Given the description of an element on the screen output the (x, y) to click on. 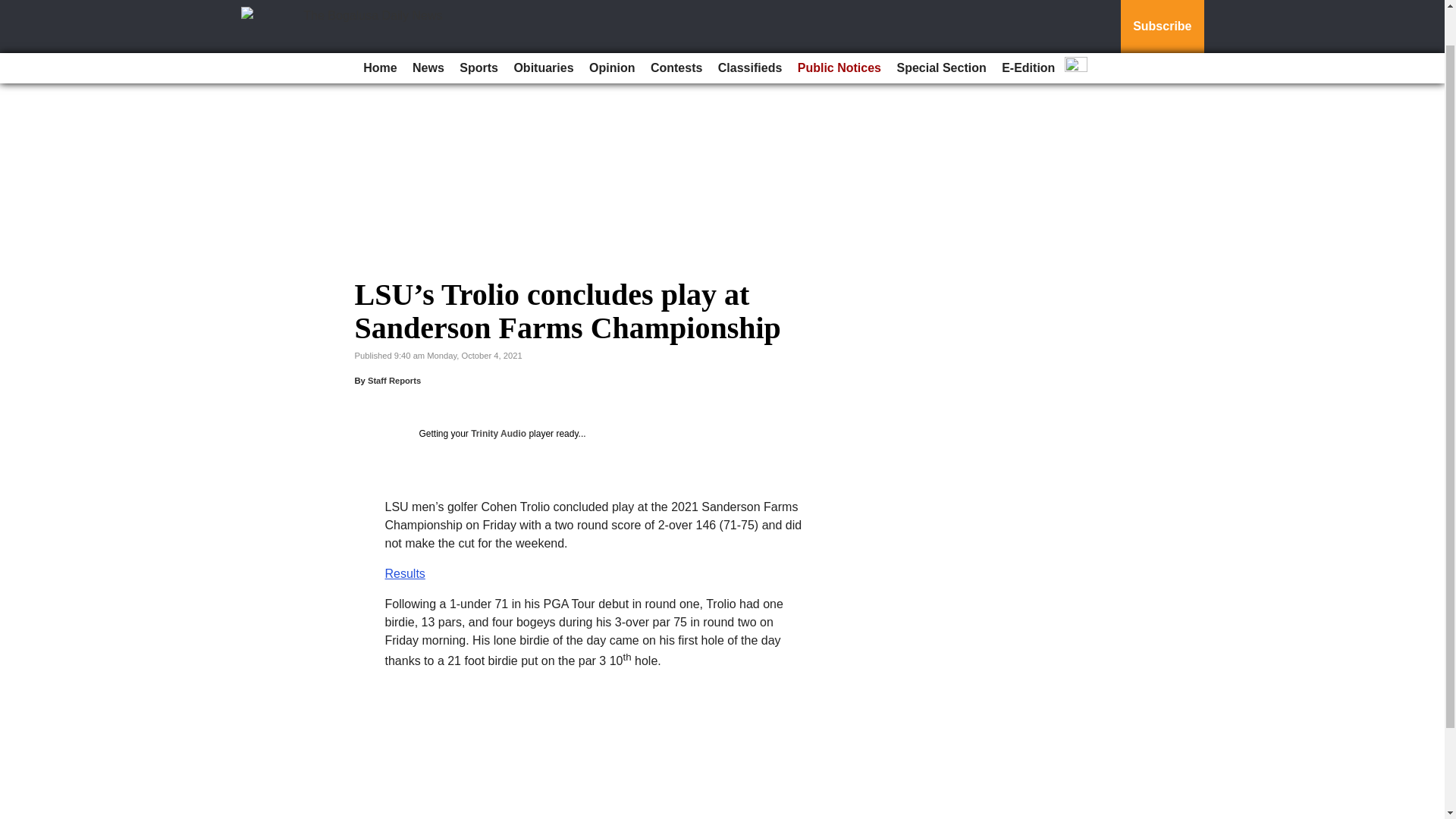
Subscribe (1162, 6)
Trinity Audio (497, 433)
Home (379, 27)
Opinion (611, 27)
Public Notices (839, 27)
E-Edition (1028, 27)
Staff Reports (394, 379)
Sports (477, 27)
Results (405, 573)
Special Section (940, 27)
